Given the description of an element on the screen output the (x, y) to click on. 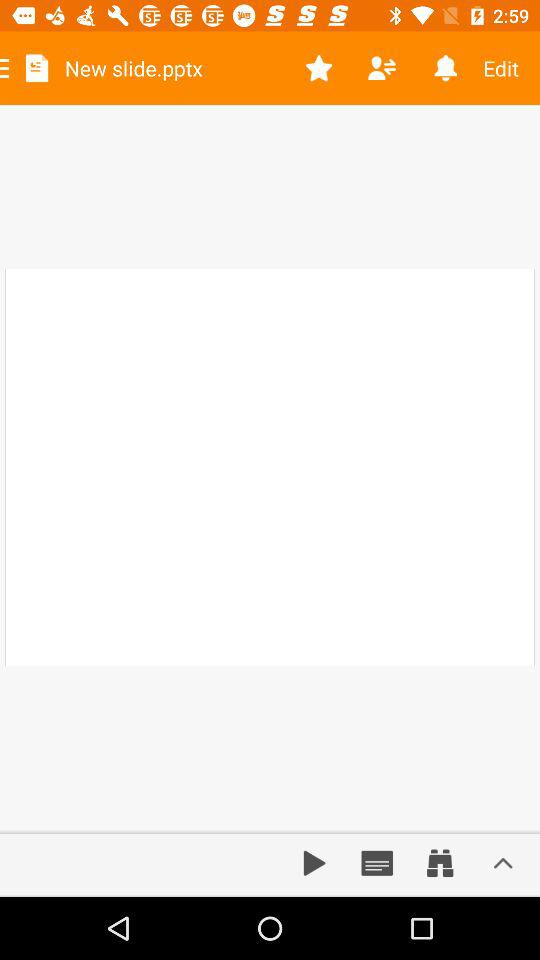
choose the icon next to the new slide.pptx item (318, 68)
